Given the description of an element on the screen output the (x, y) to click on. 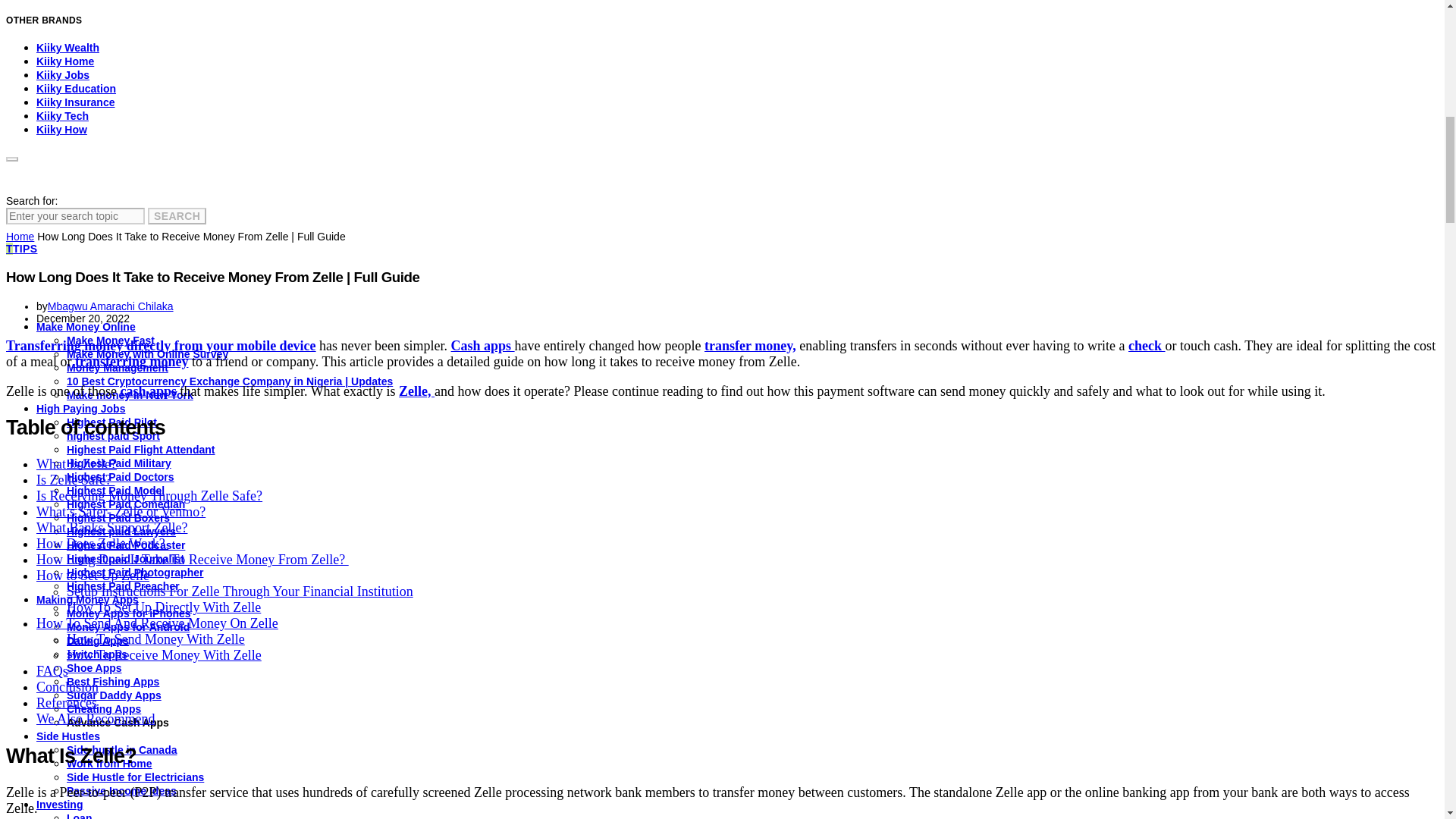
View all posts by Mbagwu Amarachi Chilaka (110, 306)
